Given the description of an element on the screen output the (x, y) to click on. 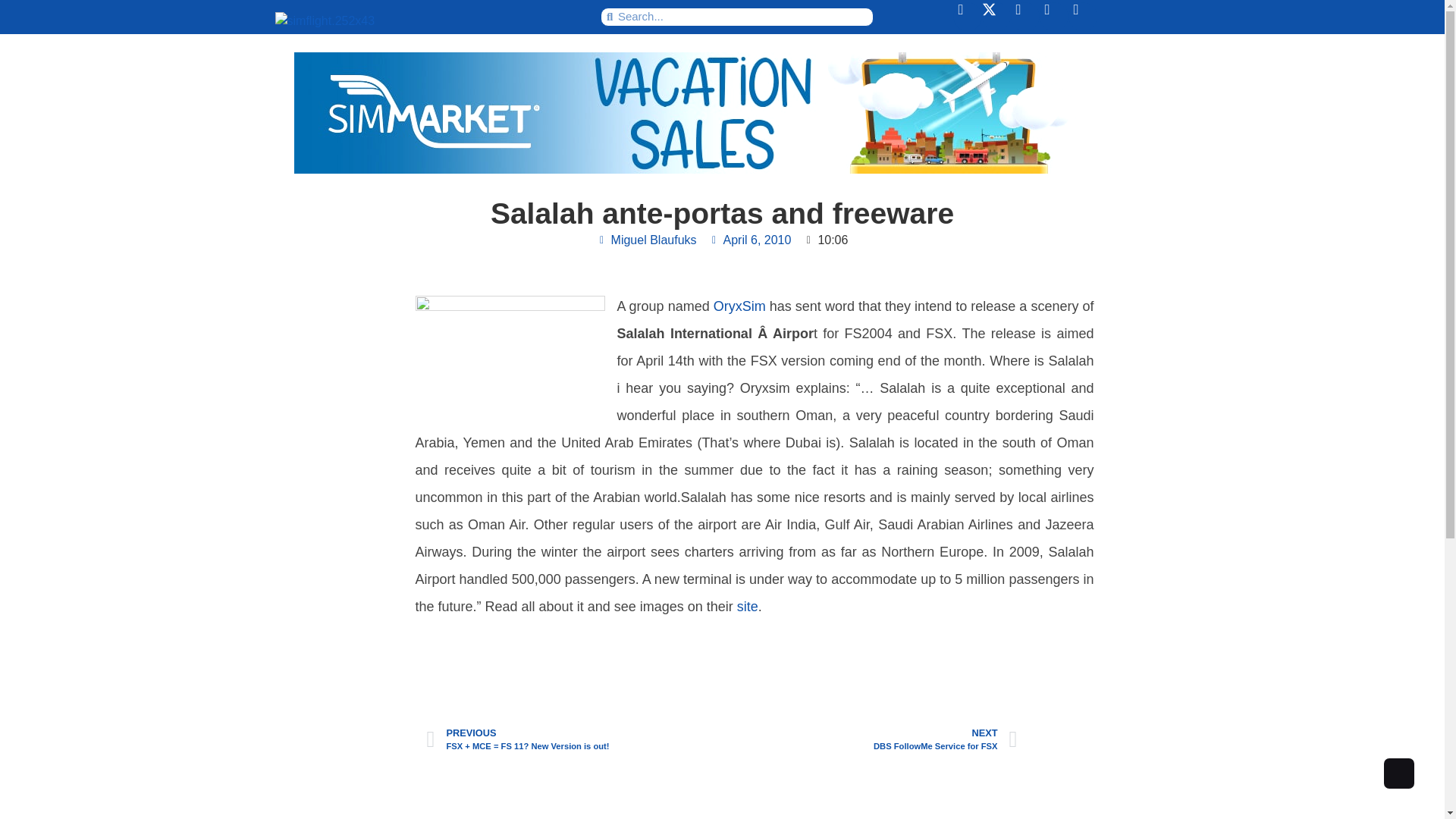
Miguel Blaufuks (646, 239)
33665469 (509, 351)
OryxSim (869, 739)
April 6, 2010 (741, 305)
site (750, 239)
